Given the description of an element on the screen output the (x, y) to click on. 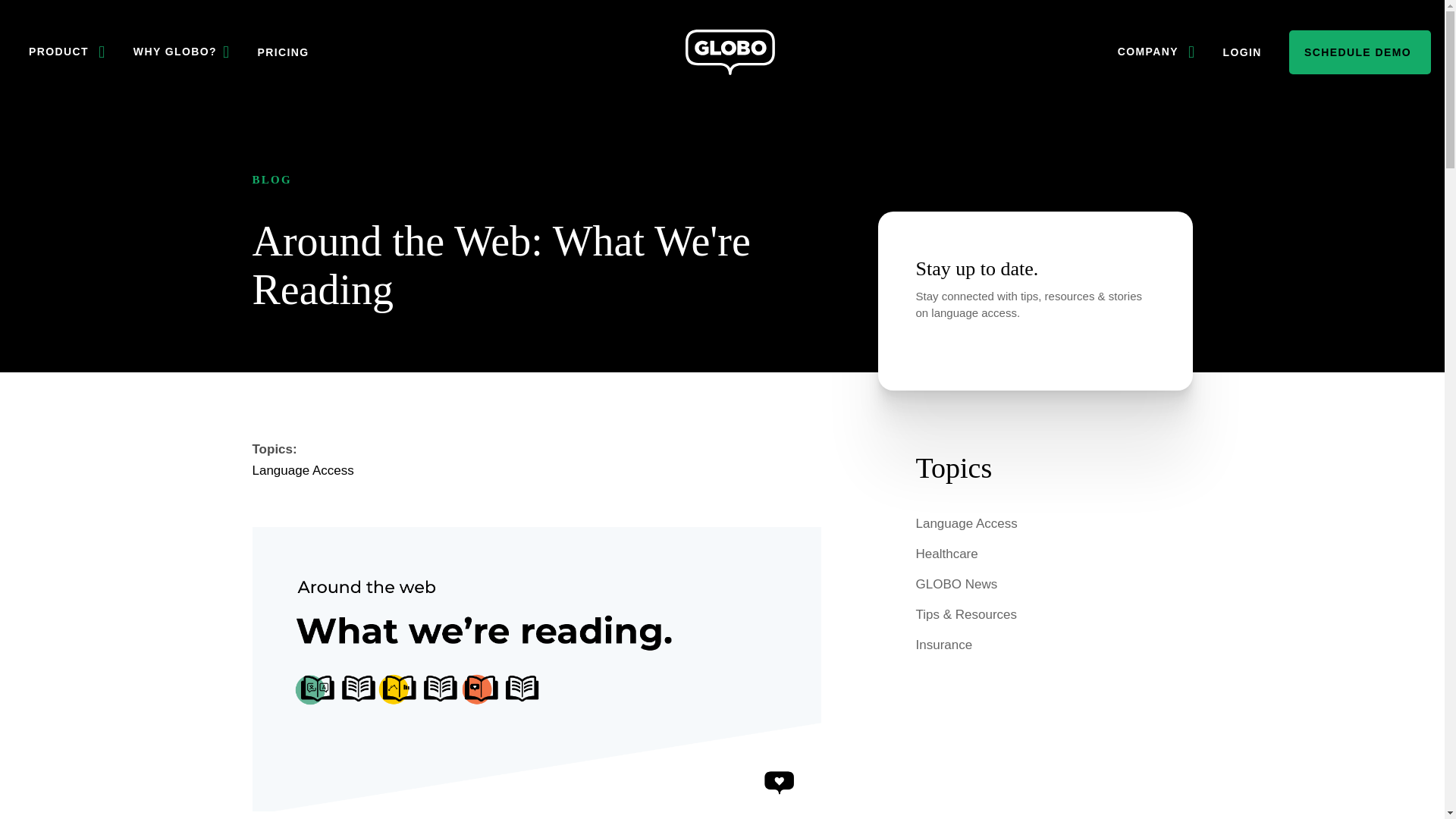
COMPANY (1156, 52)
WHY GLOBO? (181, 52)
PRICING (282, 51)
PRODUCT (66, 52)
LOGIN (1242, 51)
Language Access (302, 470)
